Given the description of an element on the screen output the (x, y) to click on. 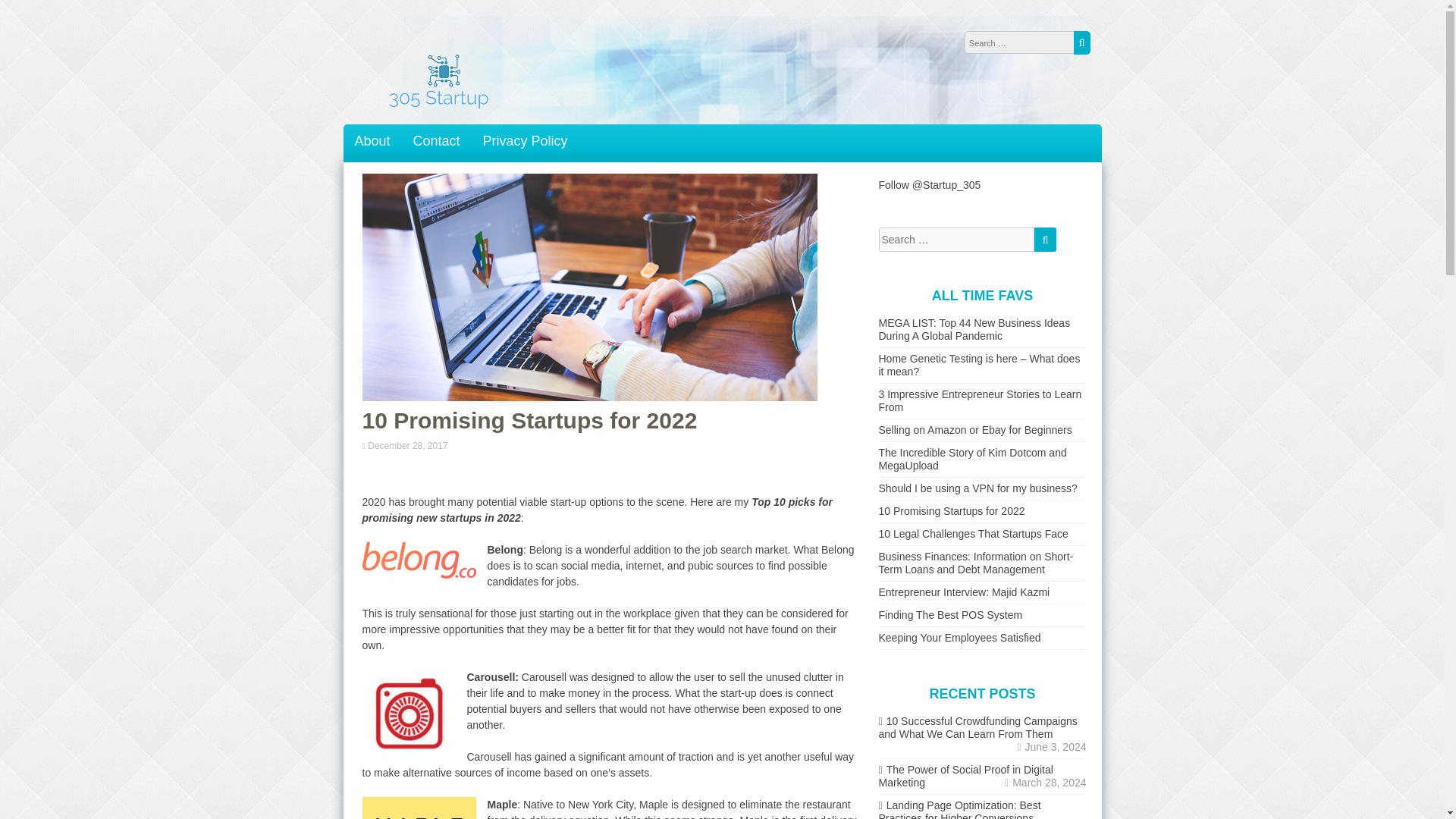
December 28, 2017 (408, 445)
3 Impressive Entrepreneur Stories to Learn From (979, 400)
Should I be using a VPN for my business? (977, 488)
Keeping Your Employees Satisfied (959, 637)
10 Promising Startups for 2022 (951, 510)
Entrepreneur Interview: Majid Kazmi (963, 592)
Selling on Amazon or Ebay for Beginners (974, 429)
Contact (436, 141)
Search (1045, 239)
About (372, 141)
Startup 305 (438, 109)
